Given the description of an element on the screen output the (x, y) to click on. 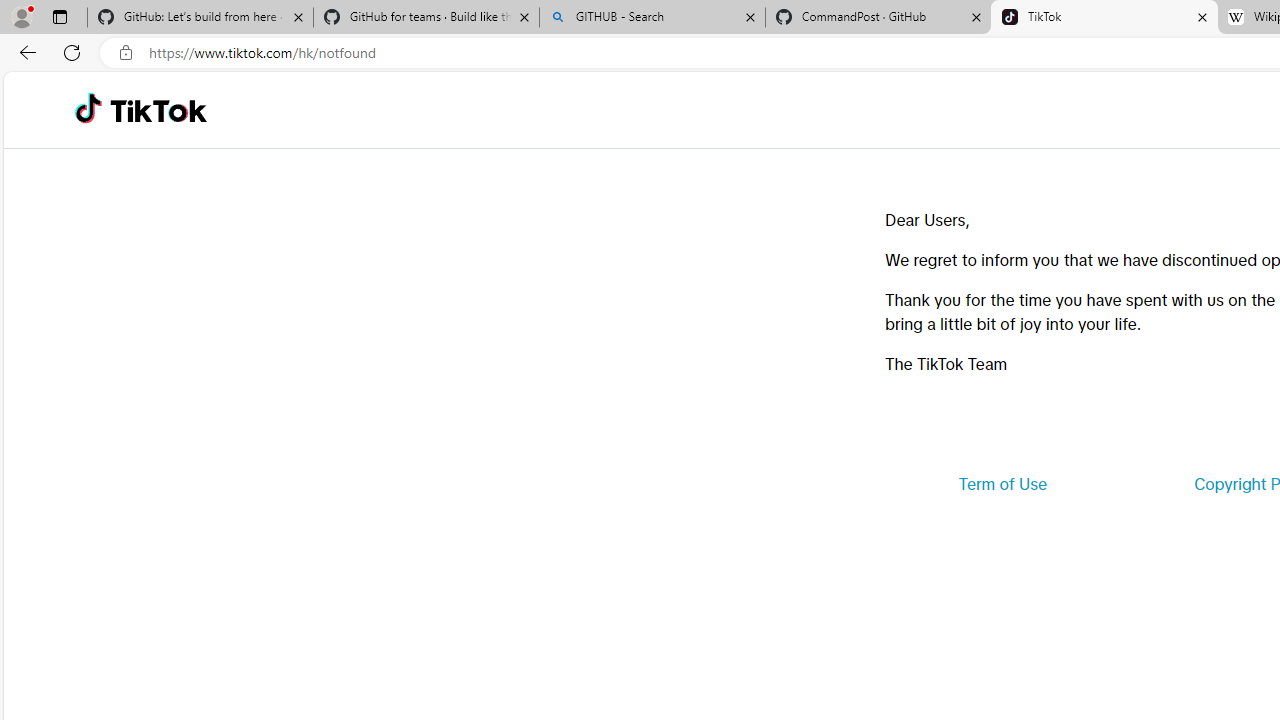
Term of Use (1002, 484)
TikTok (1104, 17)
GITHUB - Search (652, 17)
TikTok (158, 110)
